Given the description of an element on the screen output the (x, y) to click on. 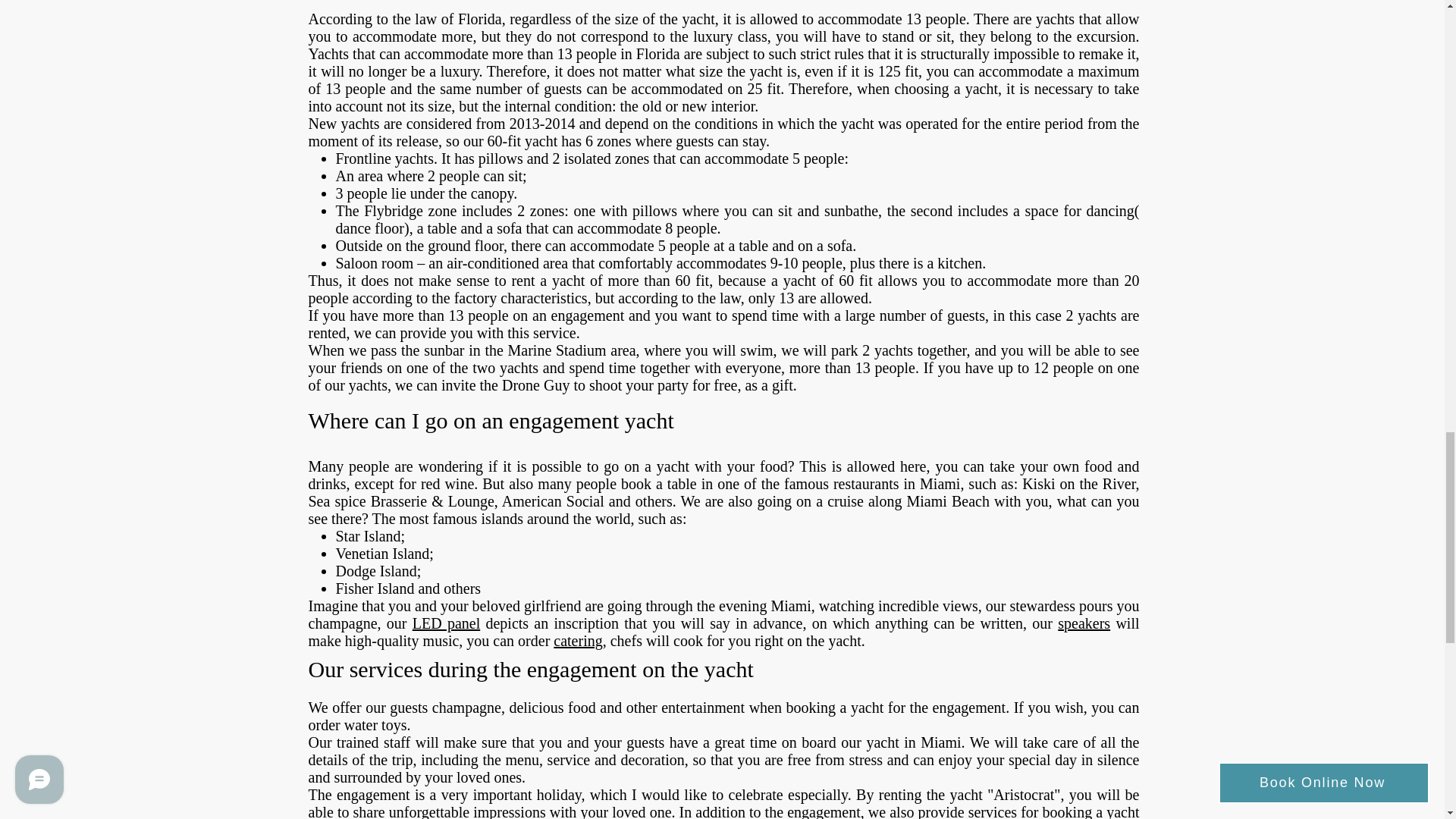
speakers (1083, 623)
LED panel (446, 623)
catering (577, 640)
